Given the description of an element on the screen output the (x, y) to click on. 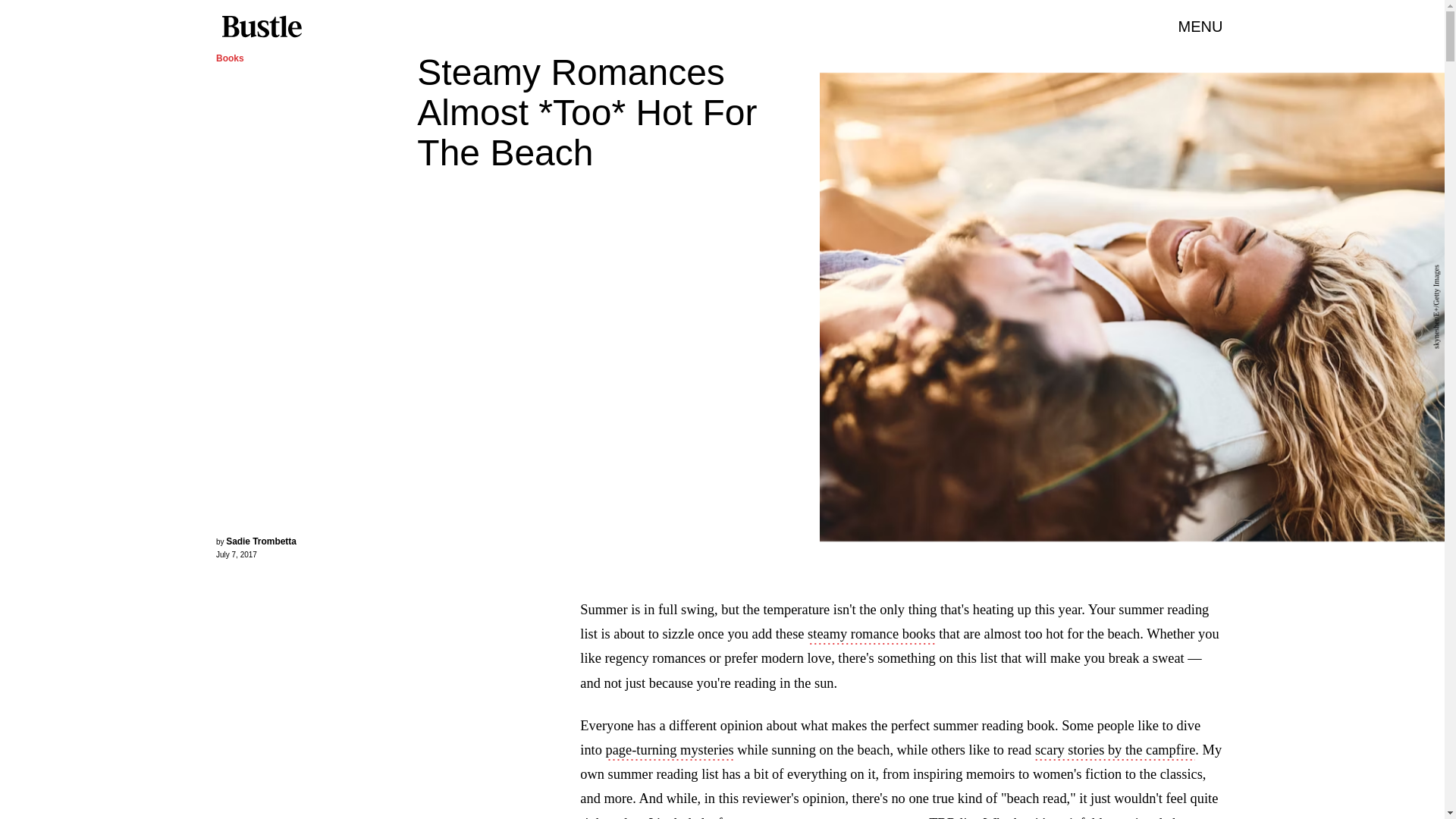
Bustle (261, 26)
steamy romance books (872, 635)
page-turning mysteries (669, 751)
scary stories by the campfire (1115, 751)
